Given the description of an element on the screen output the (x, y) to click on. 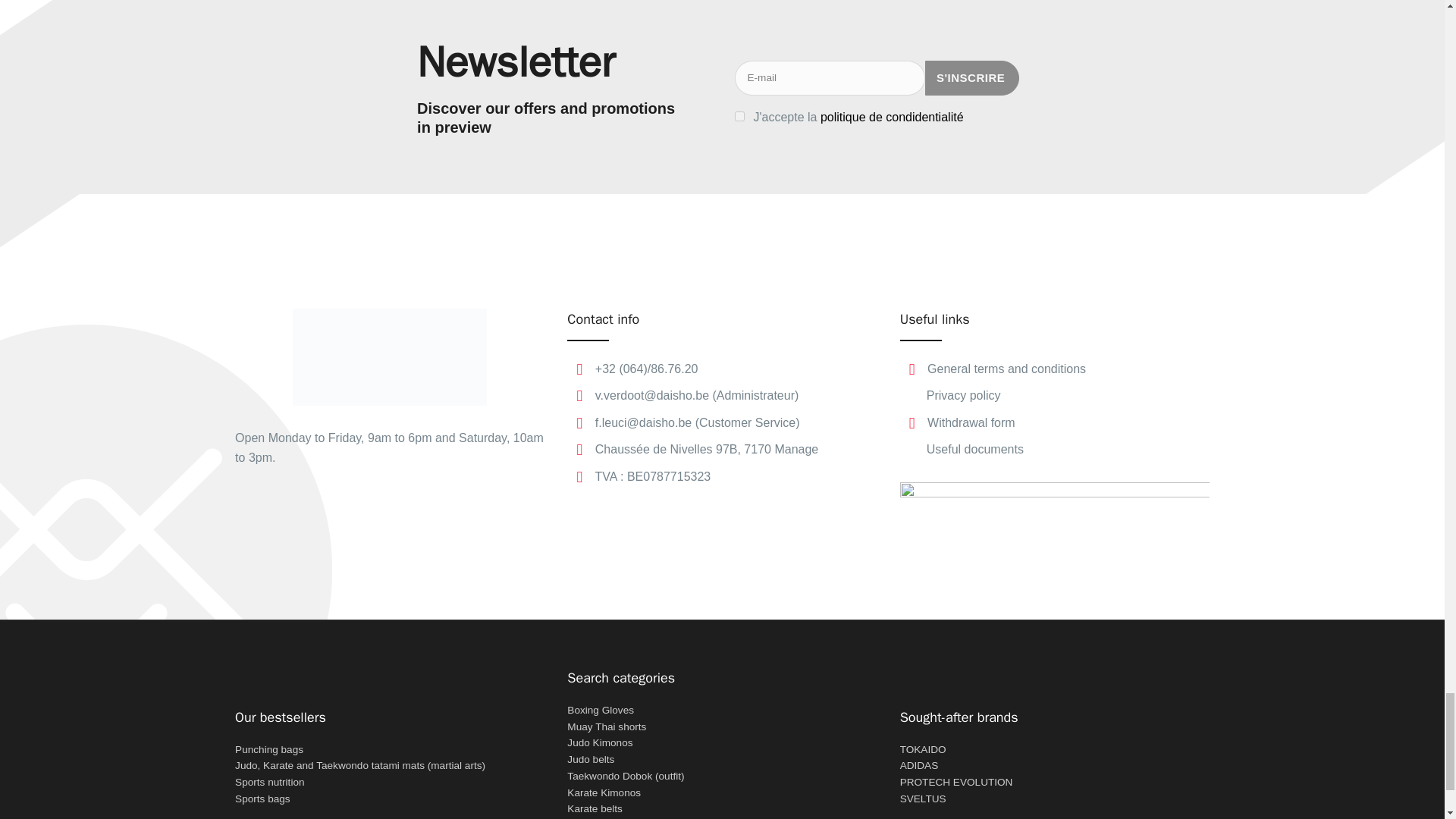
s'inscrire (971, 77)
on (738, 116)
